Given the description of an element on the screen output the (x, y) to click on. 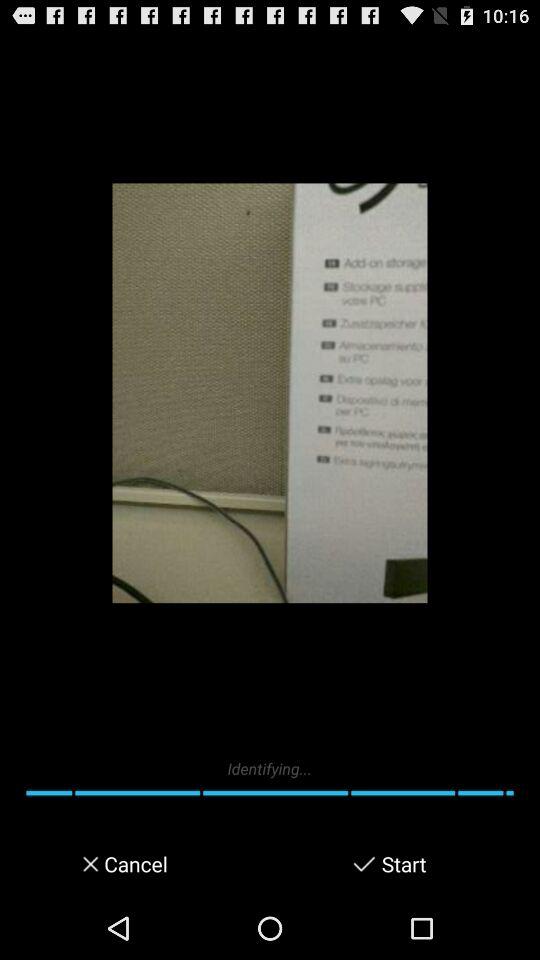
turn on item to the left of cancel icon (83, 863)
